Given the description of an element on the screen output the (x, y) to click on. 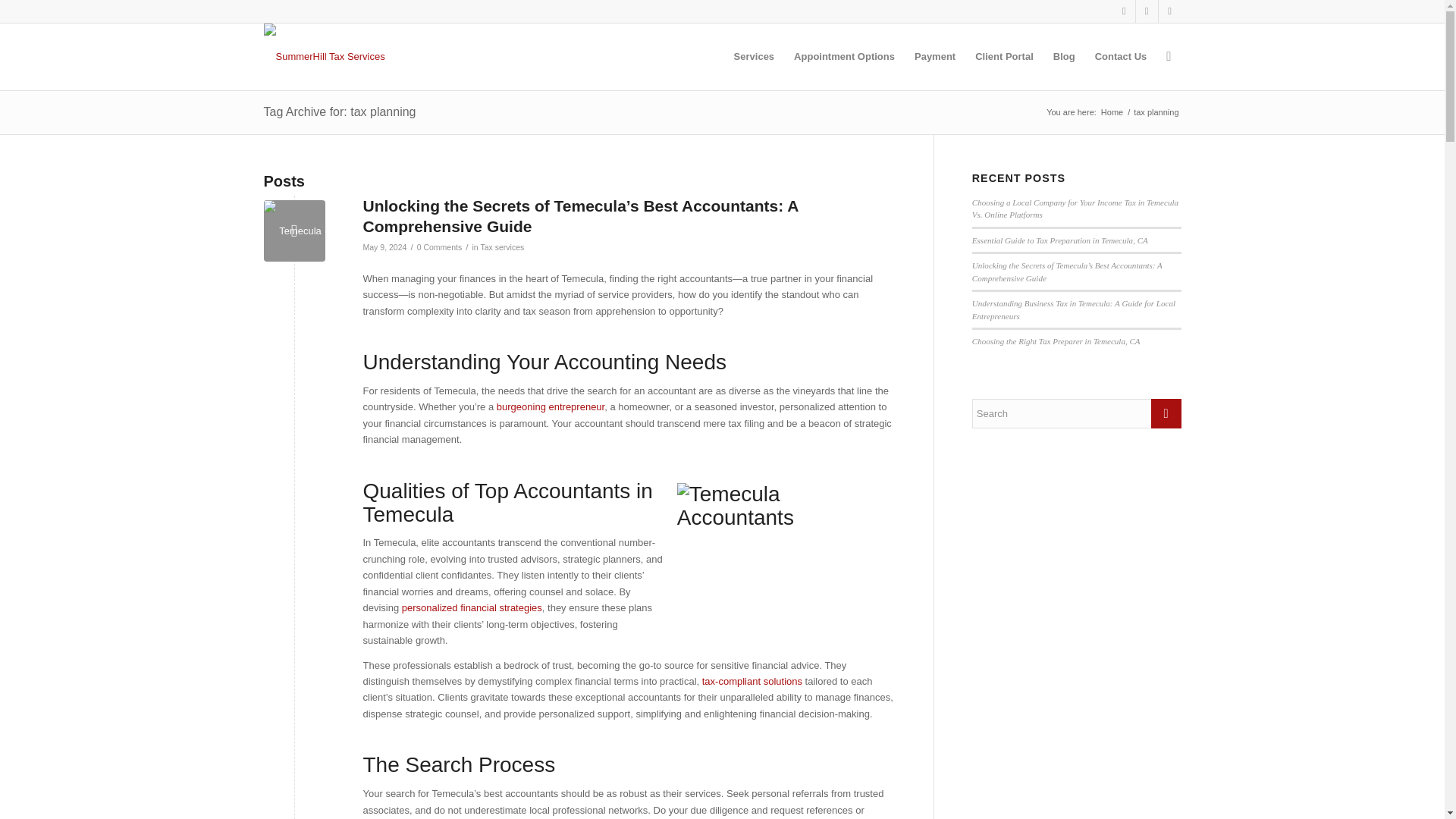
Tax services (502, 246)
Instagram (1124, 11)
Appointment Options (844, 56)
Permanent Link: Tag Archive for: tax planning (339, 111)
SummerHill Tax Services (1112, 112)
burgeoning entrepreneur (550, 406)
Payment (934, 56)
Client Portal (1004, 56)
personalized financial strategies (471, 607)
0 Comments (439, 246)
Contact Us (1120, 56)
LinkedIn (1169, 11)
tax-compliant solutions (750, 681)
Services (753, 56)
Facebook (1146, 11)
